Given the description of an element on the screen output the (x, y) to click on. 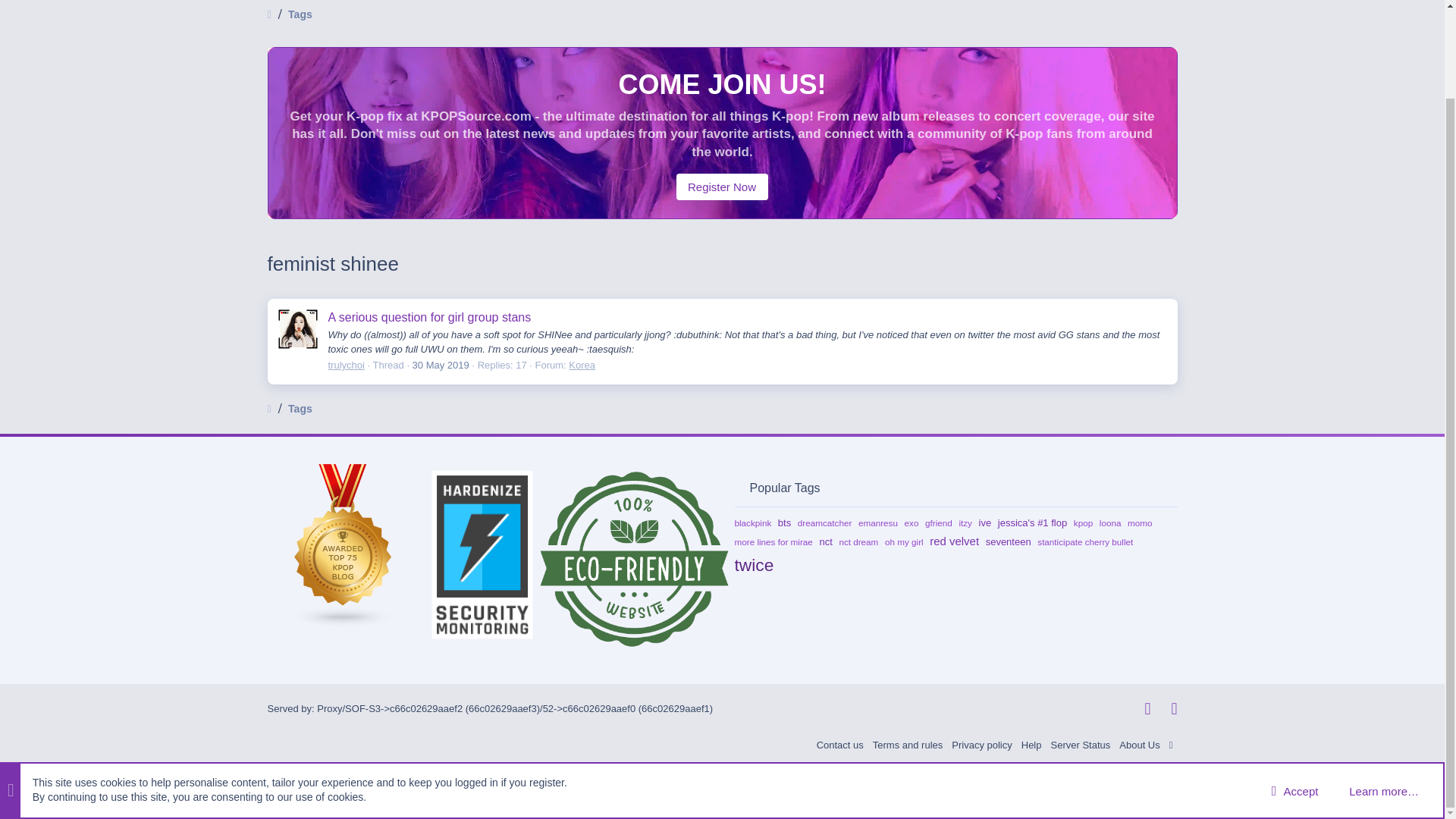
Register Now (722, 186)
Tags (300, 14)
30 May 2019 at 6:25 AM (612, 12)
